Given the description of an element on the screen output the (x, y) to click on. 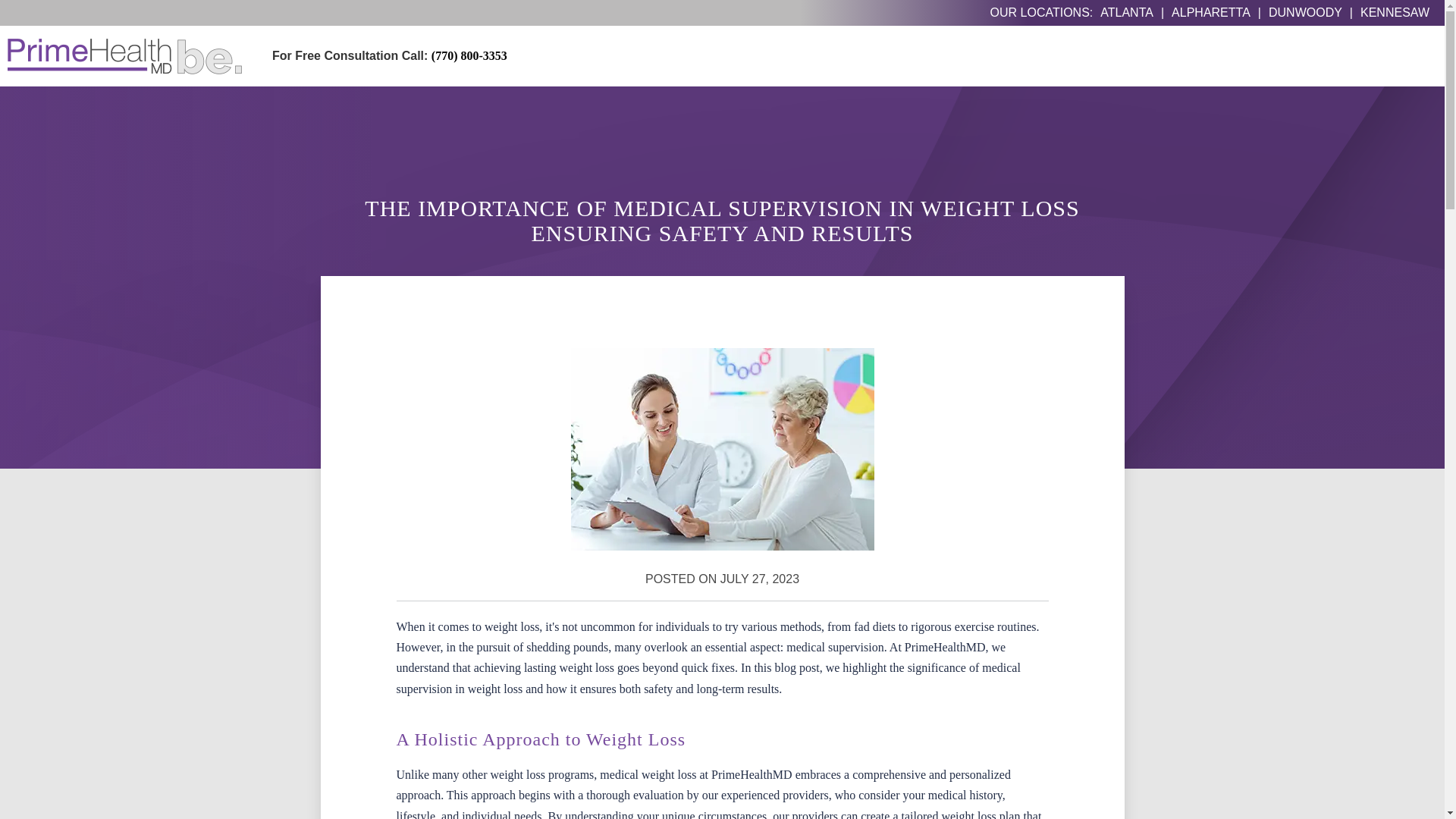
ALPHARETTA (1211, 12)
KENNESAW (1394, 12)
ATLANTA (1126, 12)
DUNWOODY (1305, 12)
